Given the description of an element on the screen output the (x, y) to click on. 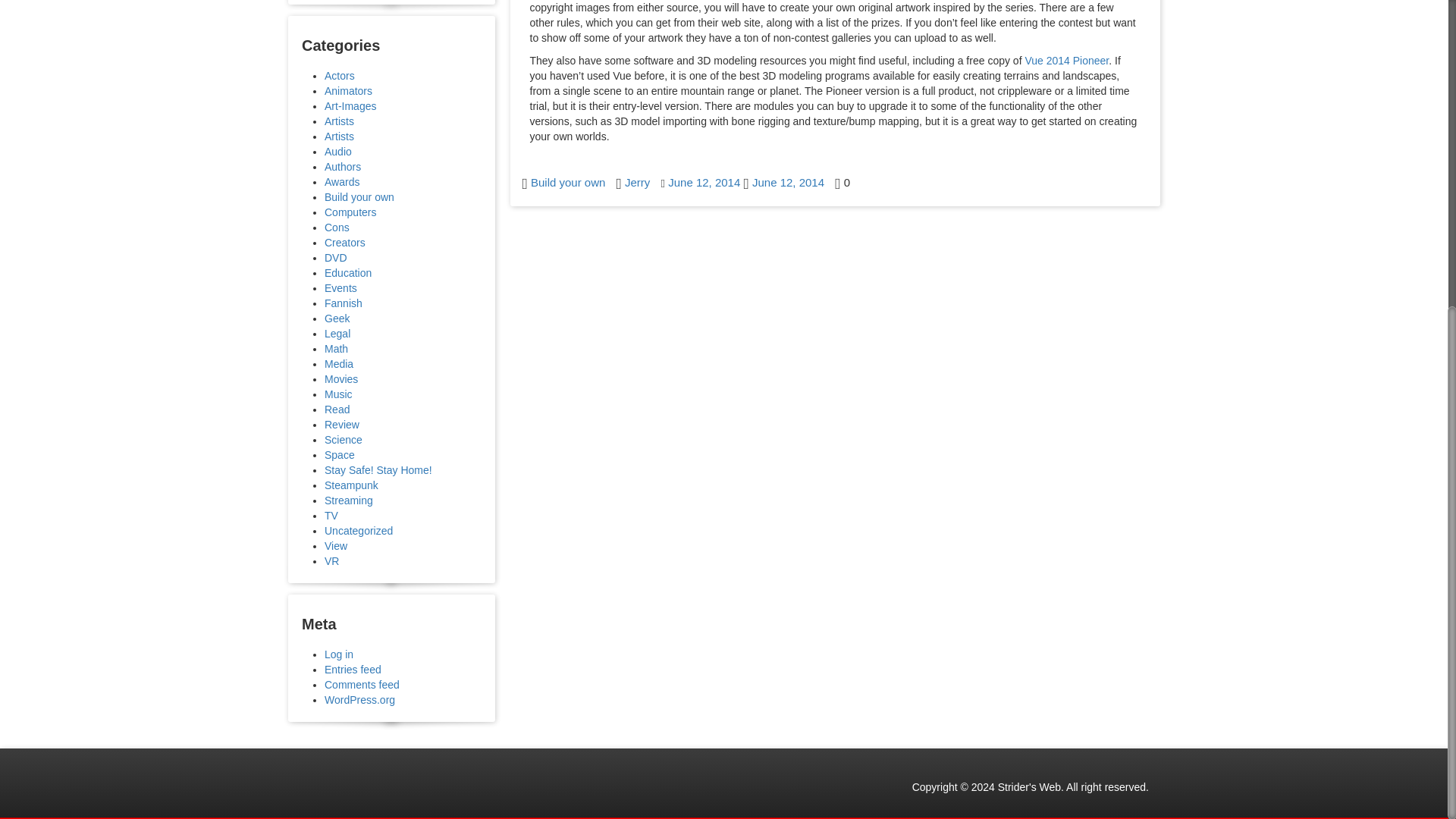
Education (347, 272)
Events (340, 287)
Artists (338, 136)
Authors (342, 166)
Audio (338, 151)
Actors (339, 75)
Space (339, 454)
Review (341, 424)
Science (343, 439)
Art-Images (349, 105)
June 12, 2014 (703, 182)
Geek (336, 318)
Legal (337, 333)
Movies (341, 378)
Media (338, 363)
